Given the description of an element on the screen output the (x, y) to click on. 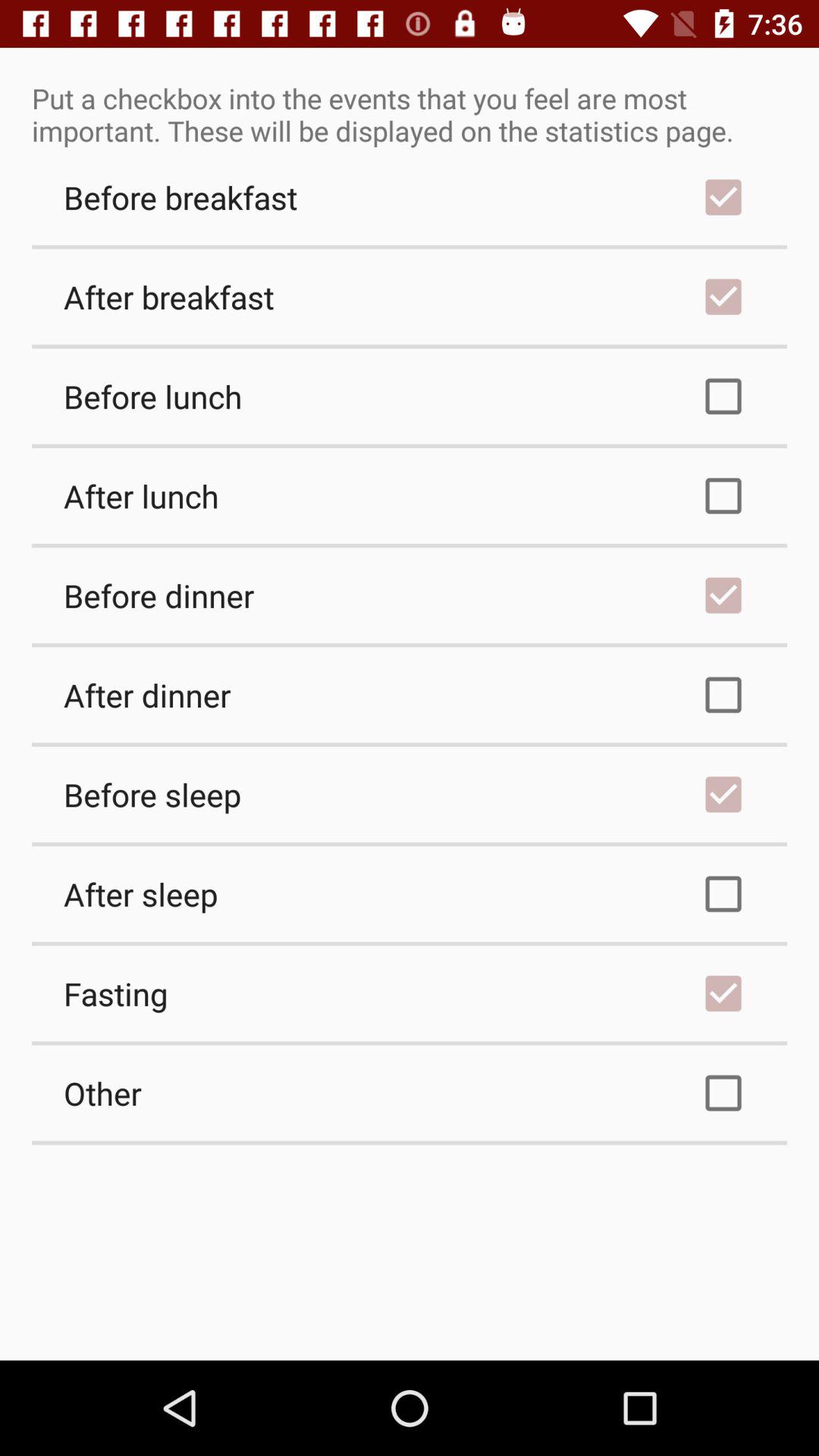
turn off item below the after breakfast checkbox (409, 396)
